Given the description of an element on the screen output the (x, y) to click on. 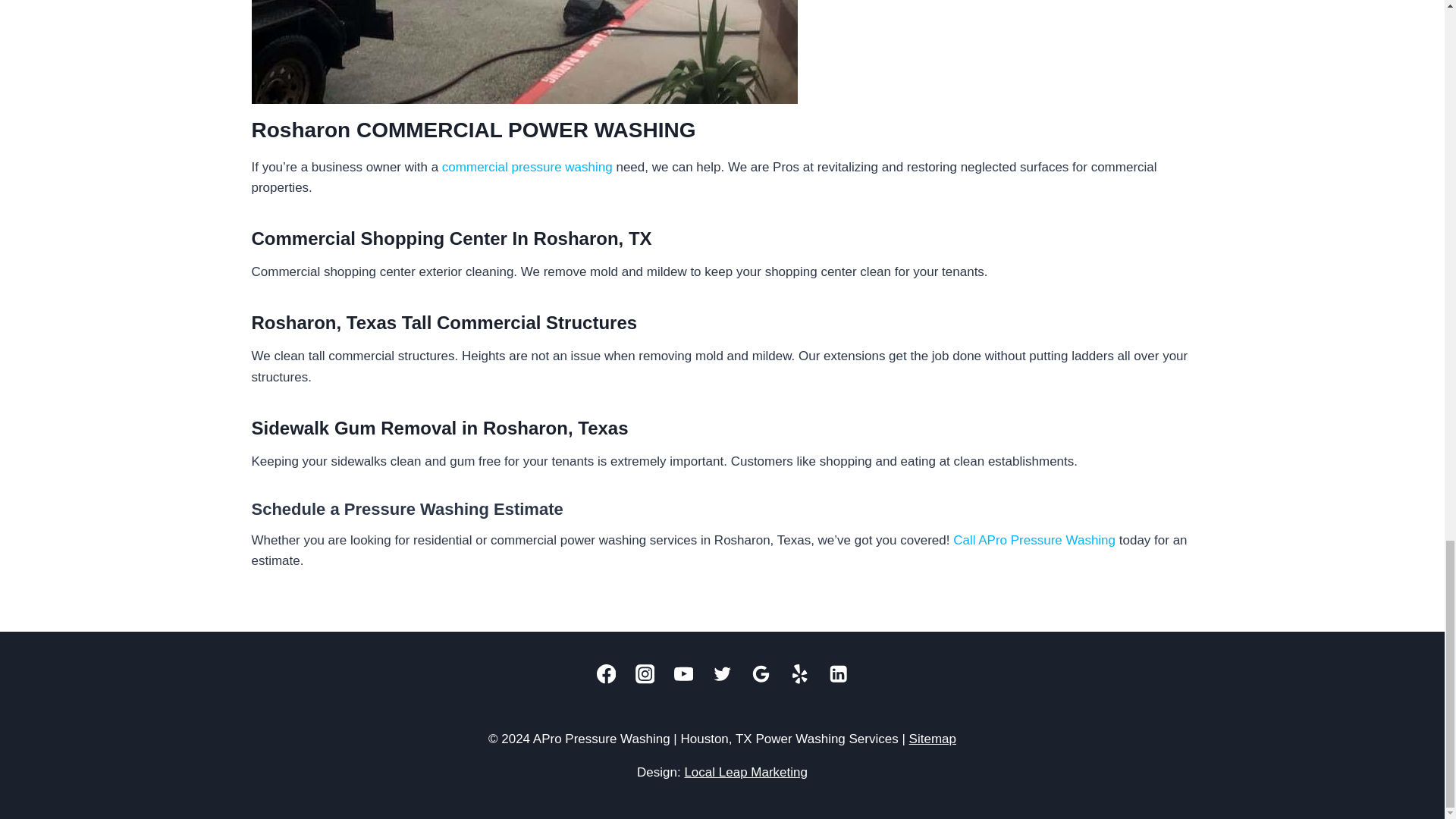
Call APro Pressure Washing (1034, 540)
Rosharon Commercial Power Washing (524, 52)
Local Leap Marketing (746, 771)
commercial pressure washing (527, 166)
Sitemap (932, 739)
